Given the description of an element on the screen output the (x, y) to click on. 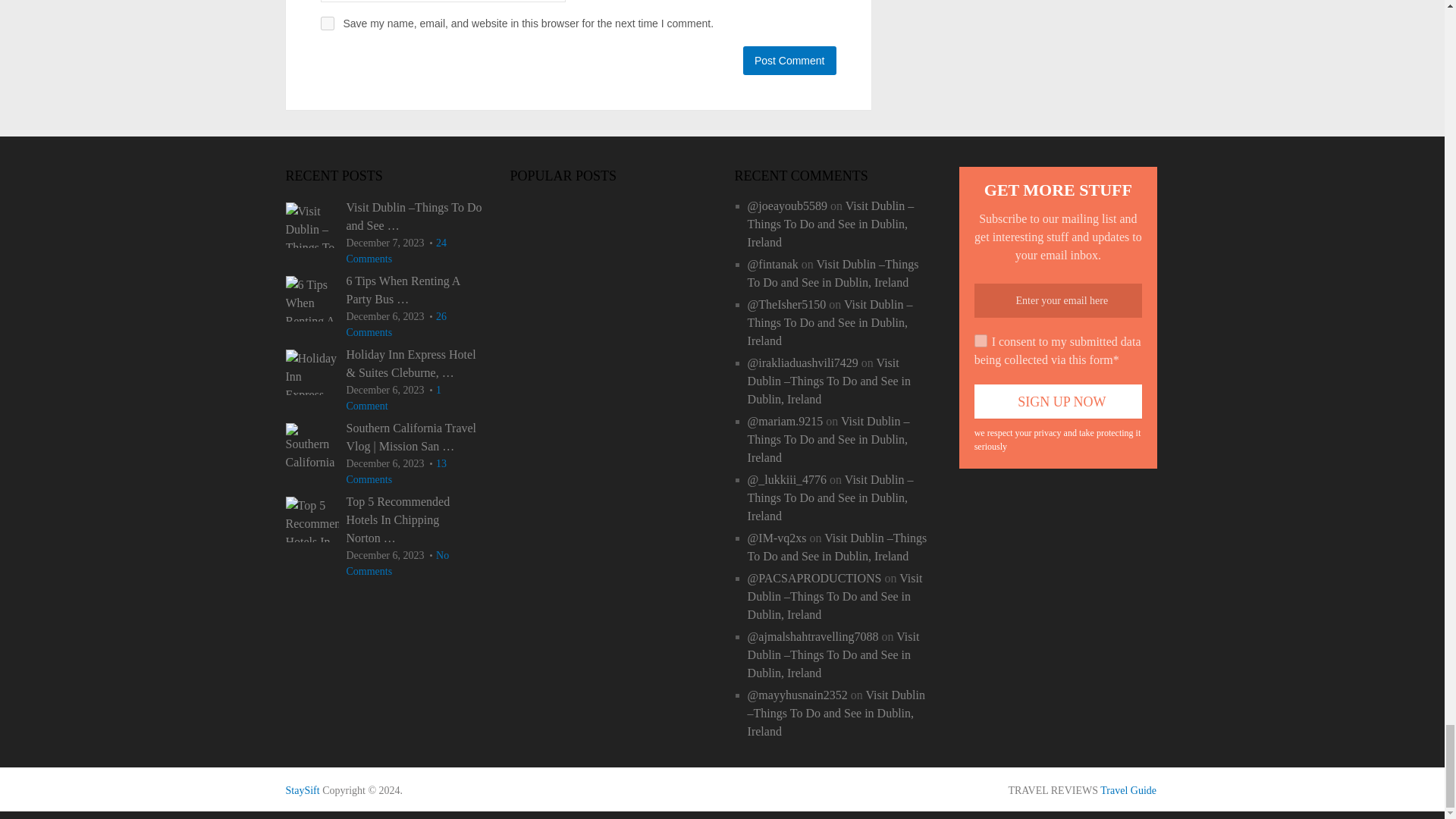
Sign Up Now (1058, 401)
yes (326, 23)
Post Comment (788, 60)
on (980, 340)
